Given the description of an element on the screen output the (x, y) to click on. 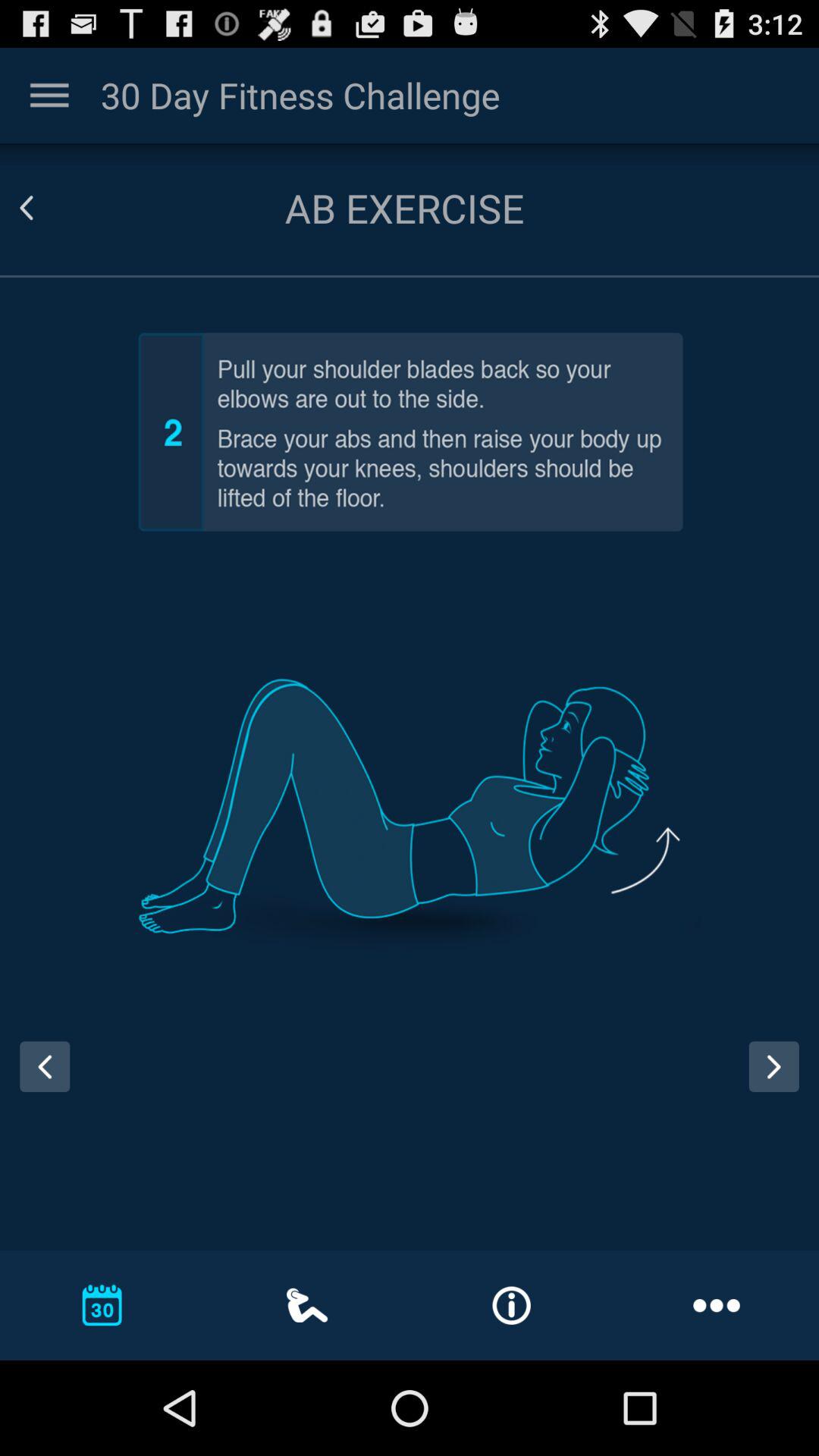
next page (779, 1081)
